Given the description of an element on the screen output the (x, y) to click on. 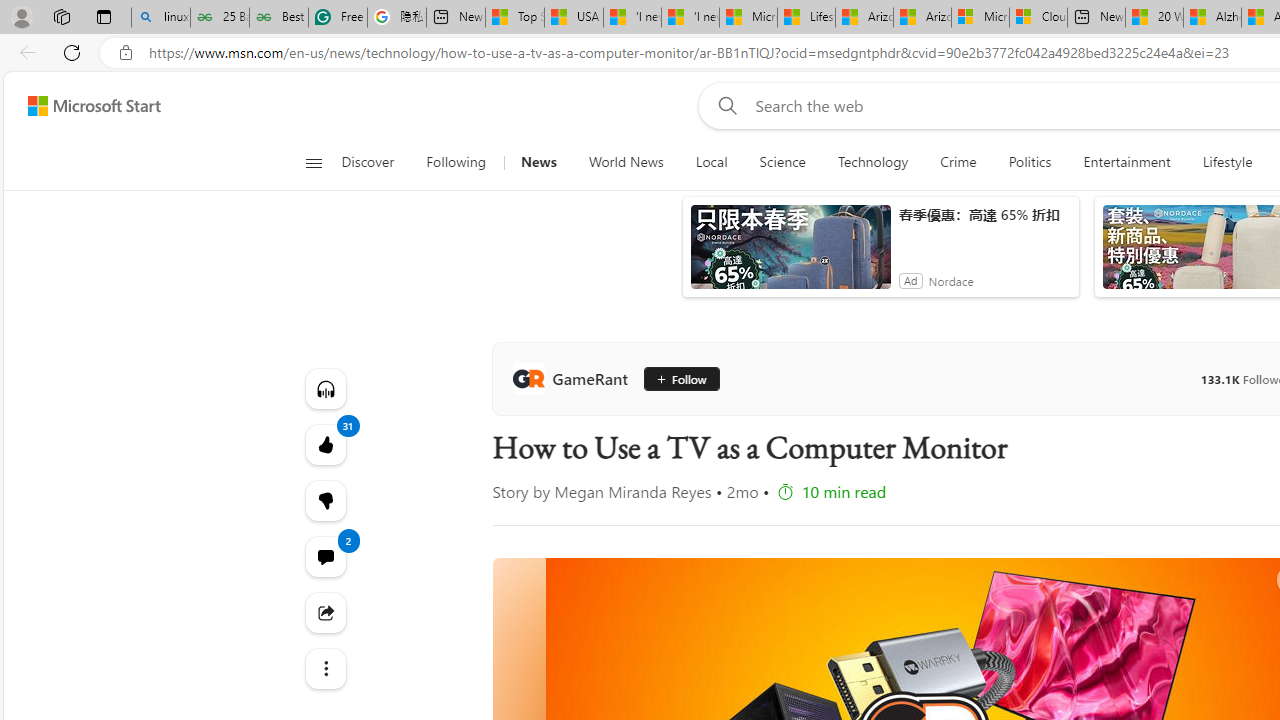
Listen to this article (324, 388)
See more (324, 668)
Following (457, 162)
Entertainment (1126, 162)
Lifestyle (1227, 162)
Science (781, 162)
20 Ways to Boost Your Protein Intake at Every Meal (1154, 17)
Skip to content (86, 105)
31 Like (324, 444)
linux basic - Search (160, 17)
Open navigation menu (313, 162)
